Given the description of an element on the screen output the (x, y) to click on. 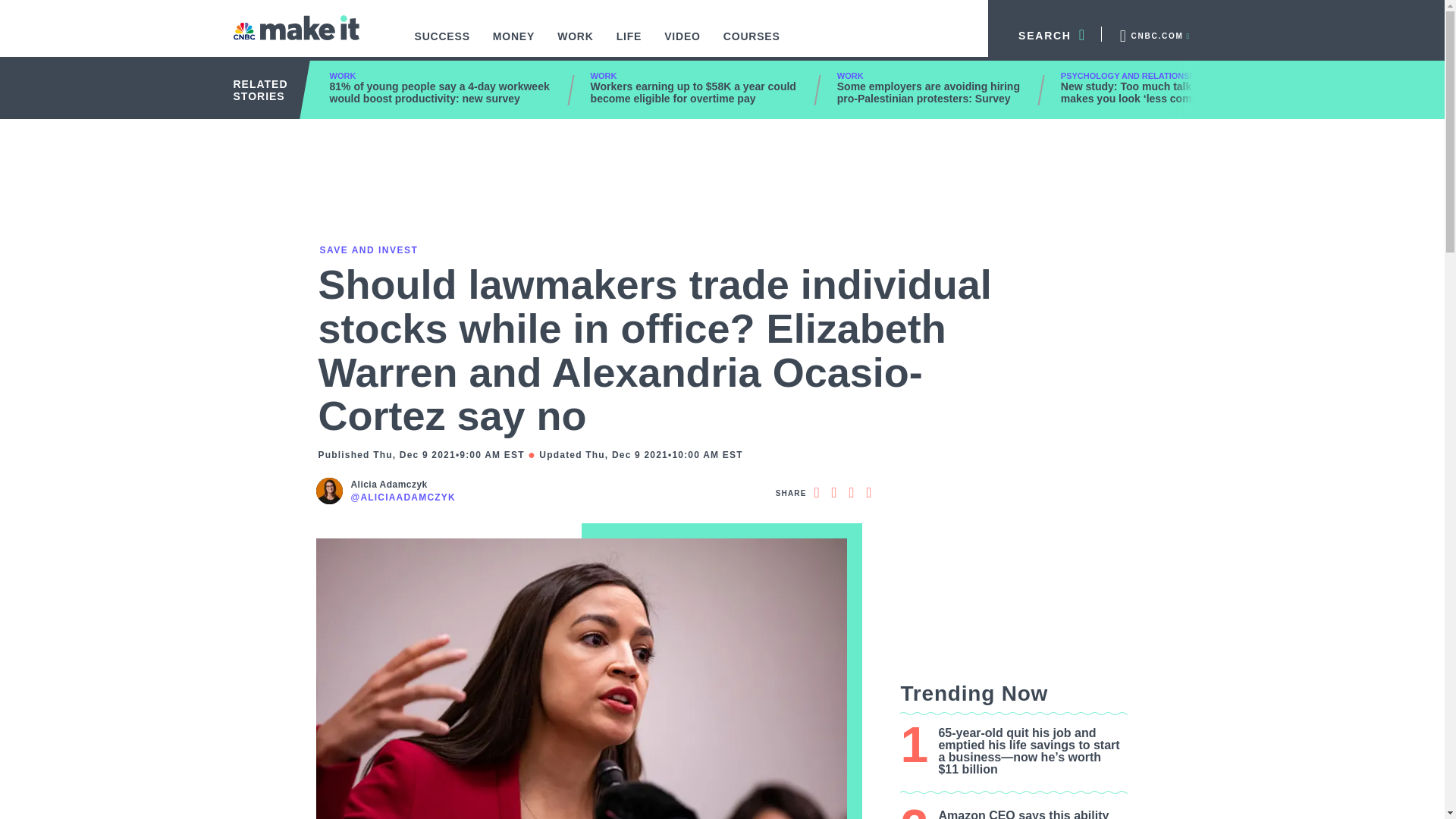
COURSES (751, 44)
MONEY (513, 44)
VIDEO (681, 44)
SUCCESS (442, 44)
WORK (575, 44)
SEARCH (1045, 33)
LIFE (629, 44)
CNBC.COM (1153, 33)
